Given the description of an element on the screen output the (x, y) to click on. 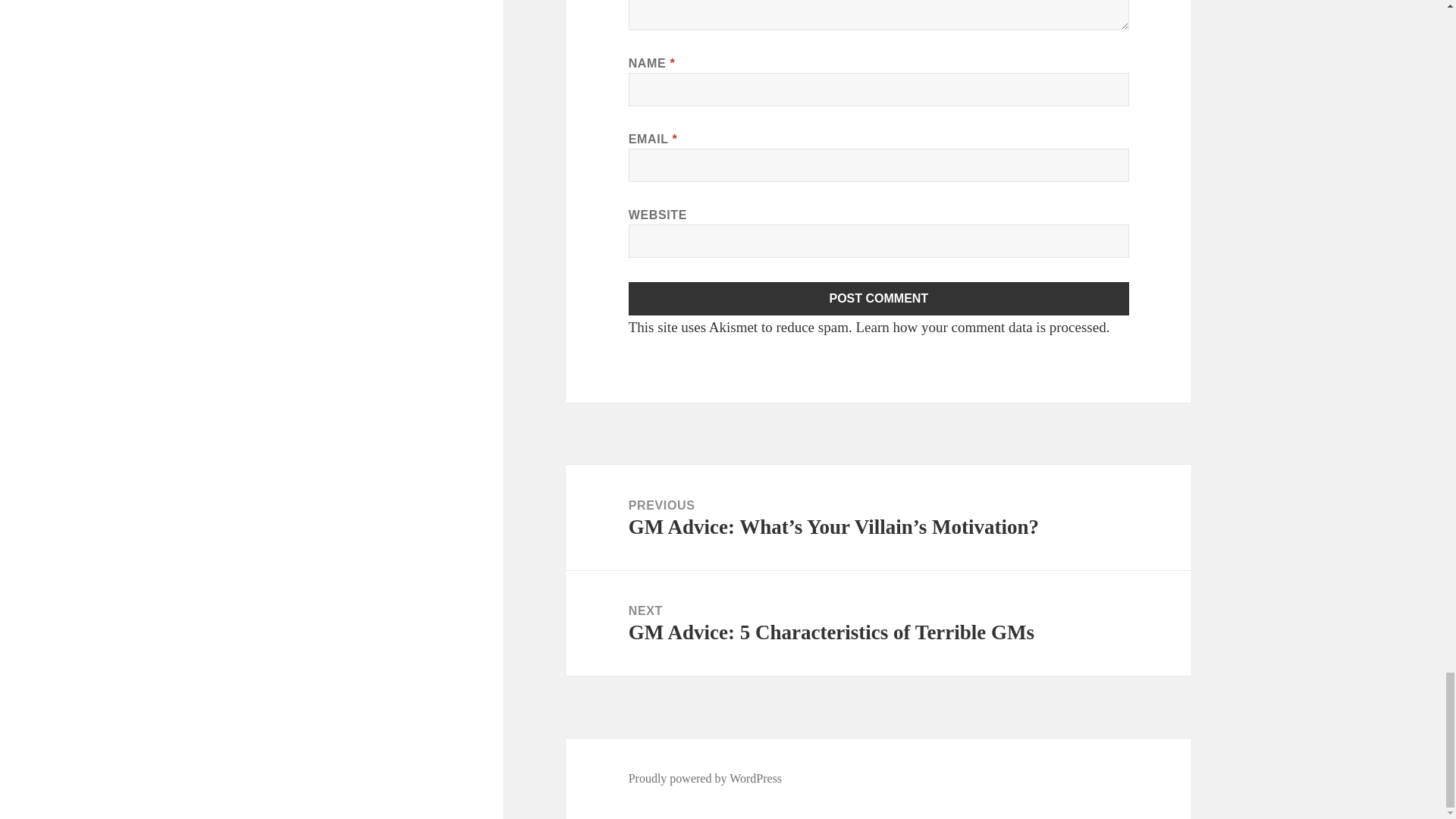
Post Comment (878, 298)
